Given the description of an element on the screen output the (x, y) to click on. 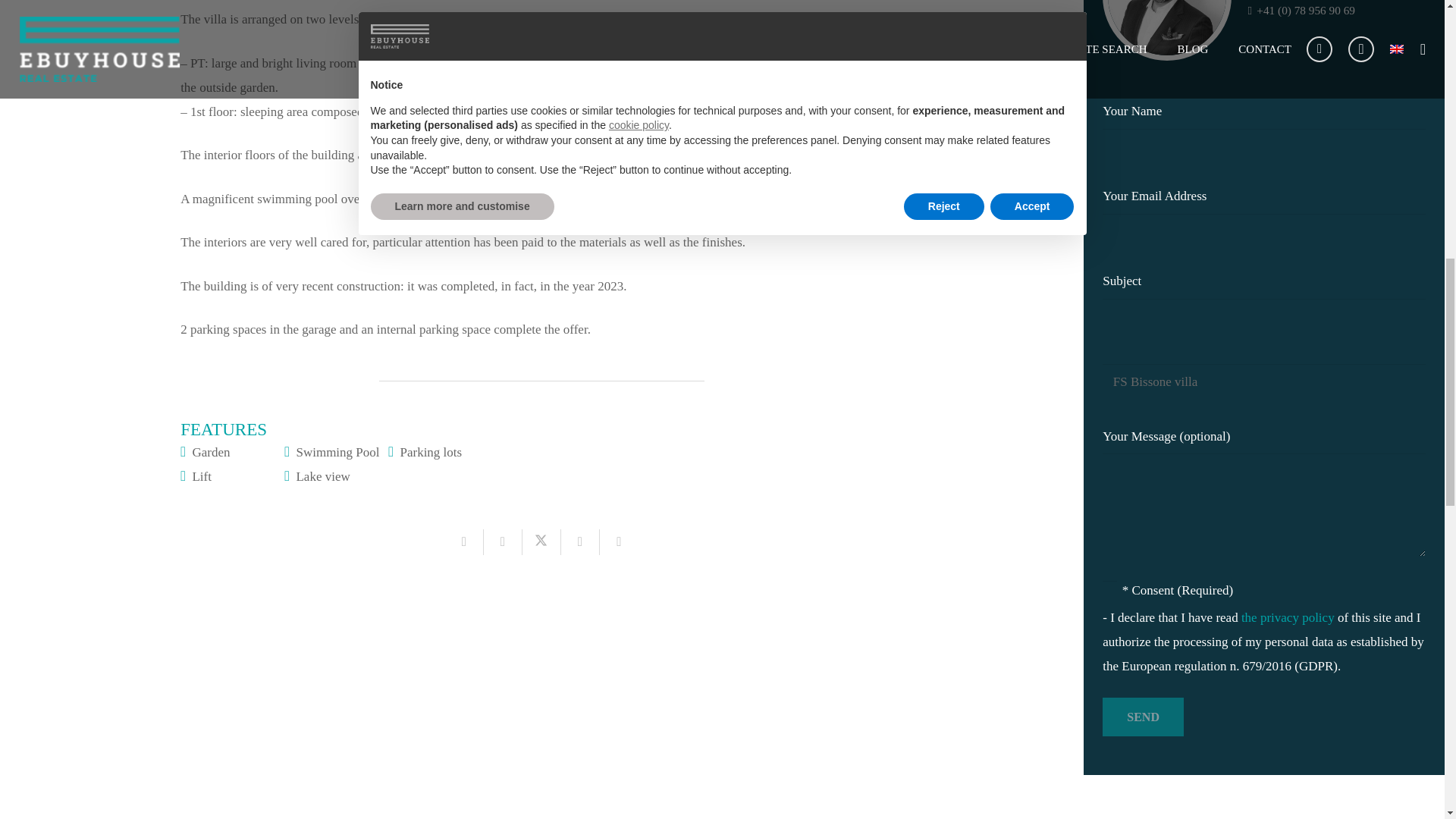
FS Bissone villa (1263, 381)
SEND (1142, 716)
SEND (1142, 716)
the privacy policy (1289, 617)
1 (1109, 587)
